Given the description of an element on the screen output the (x, y) to click on. 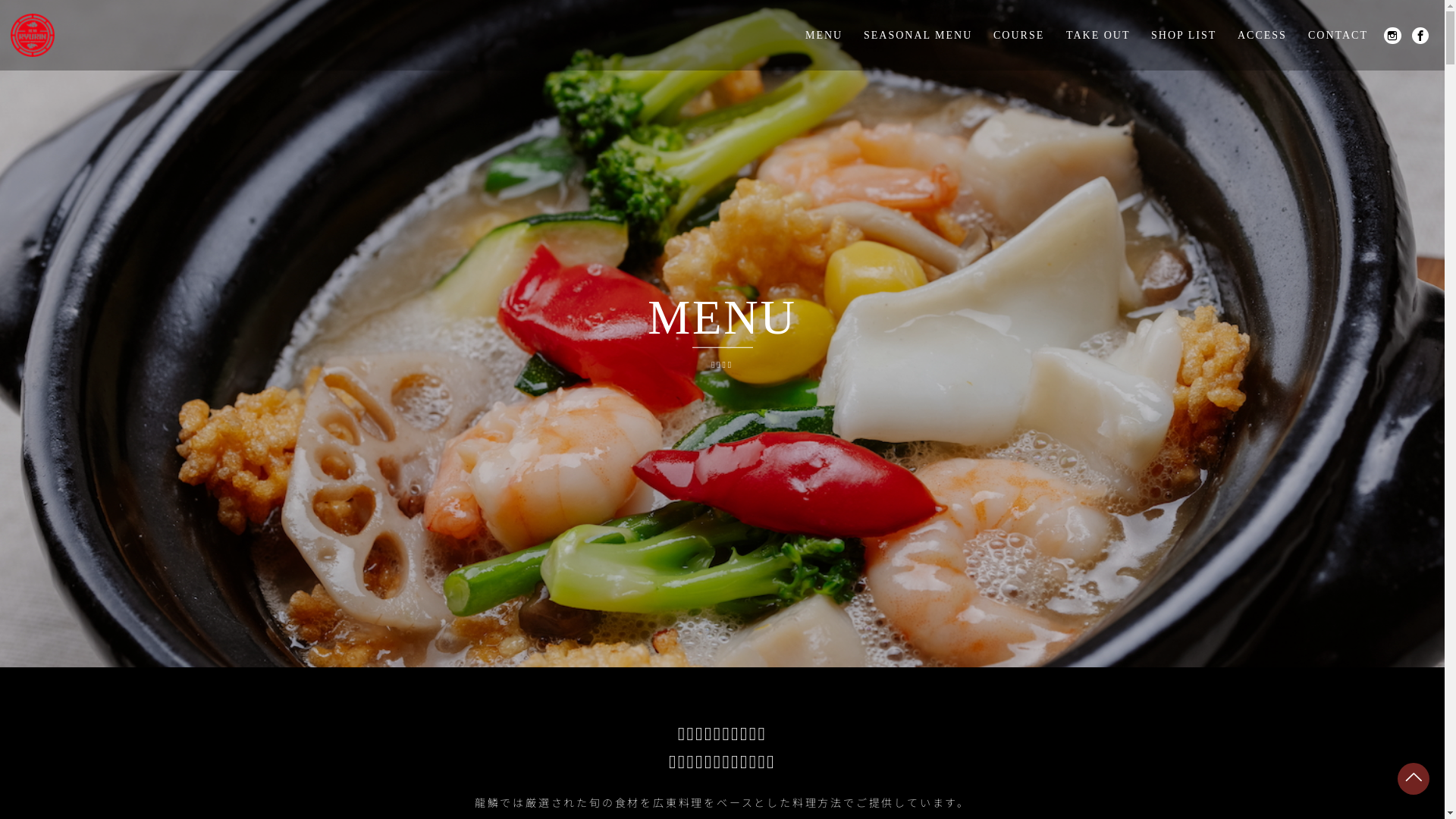
SHOP LIST Element type: text (1183, 34)
MENU Element type: text (823, 34)
COURSE Element type: text (1018, 34)
ACCESS Element type: text (1261, 34)
SEASONAL MENU Element type: text (917, 34)
CONTACT Element type: text (1338, 34)
TAKE OUT Element type: text (1097, 34)
